Given the description of an element on the screen output the (x, y) to click on. 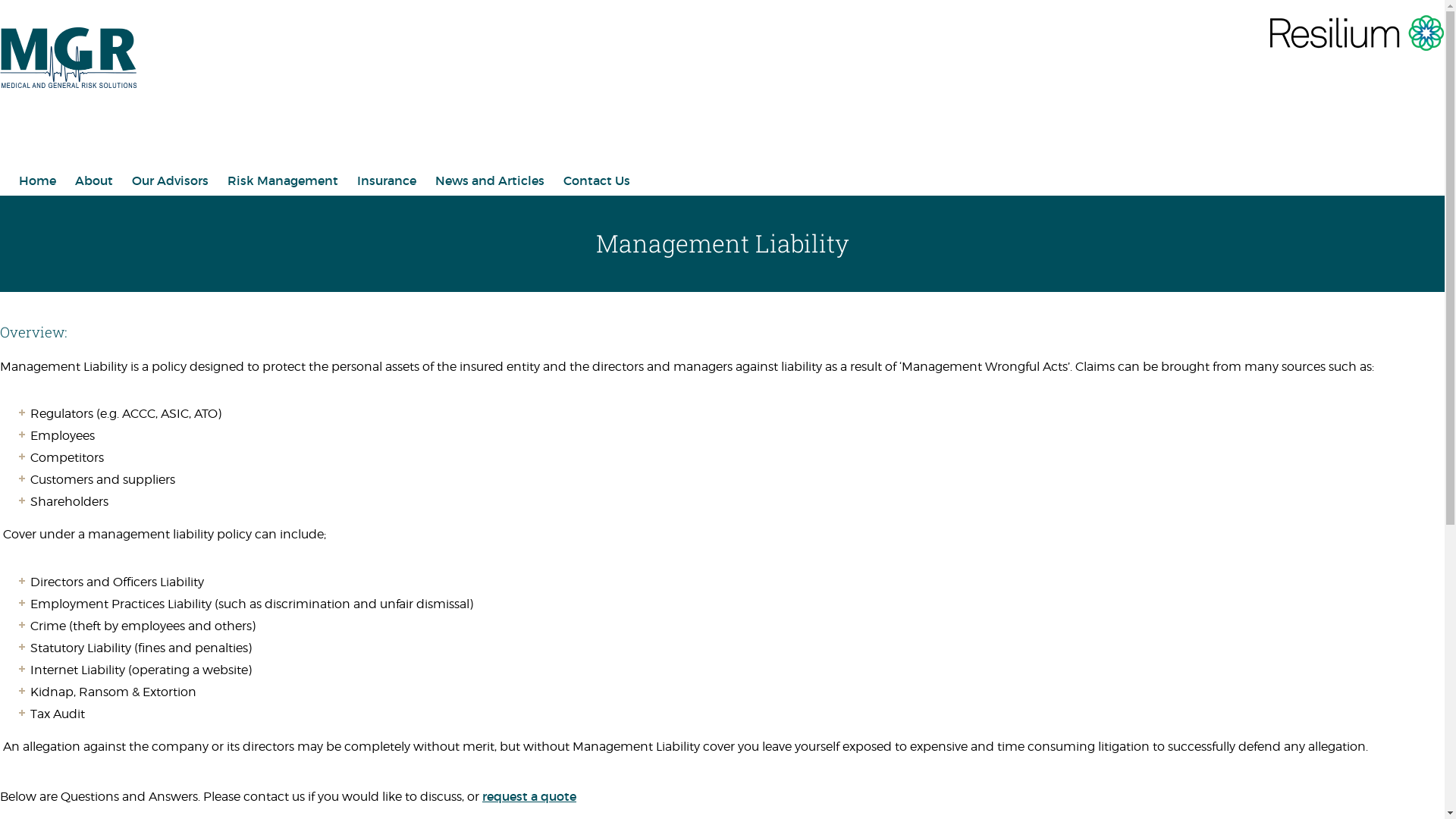
Risk Management Element type: text (282, 180)
Insurance Element type: text (386, 180)
About Element type: text (93, 180)
Our Advisors Element type: text (169, 180)
Home Element type: text (37, 180)
request a quote Element type: text (529, 795)
Contact Us Element type: text (596, 180)
Resilium Element type: hover (1351, 47)
News and Articles Element type: text (489, 180)
